Given the description of an element on the screen output the (x, y) to click on. 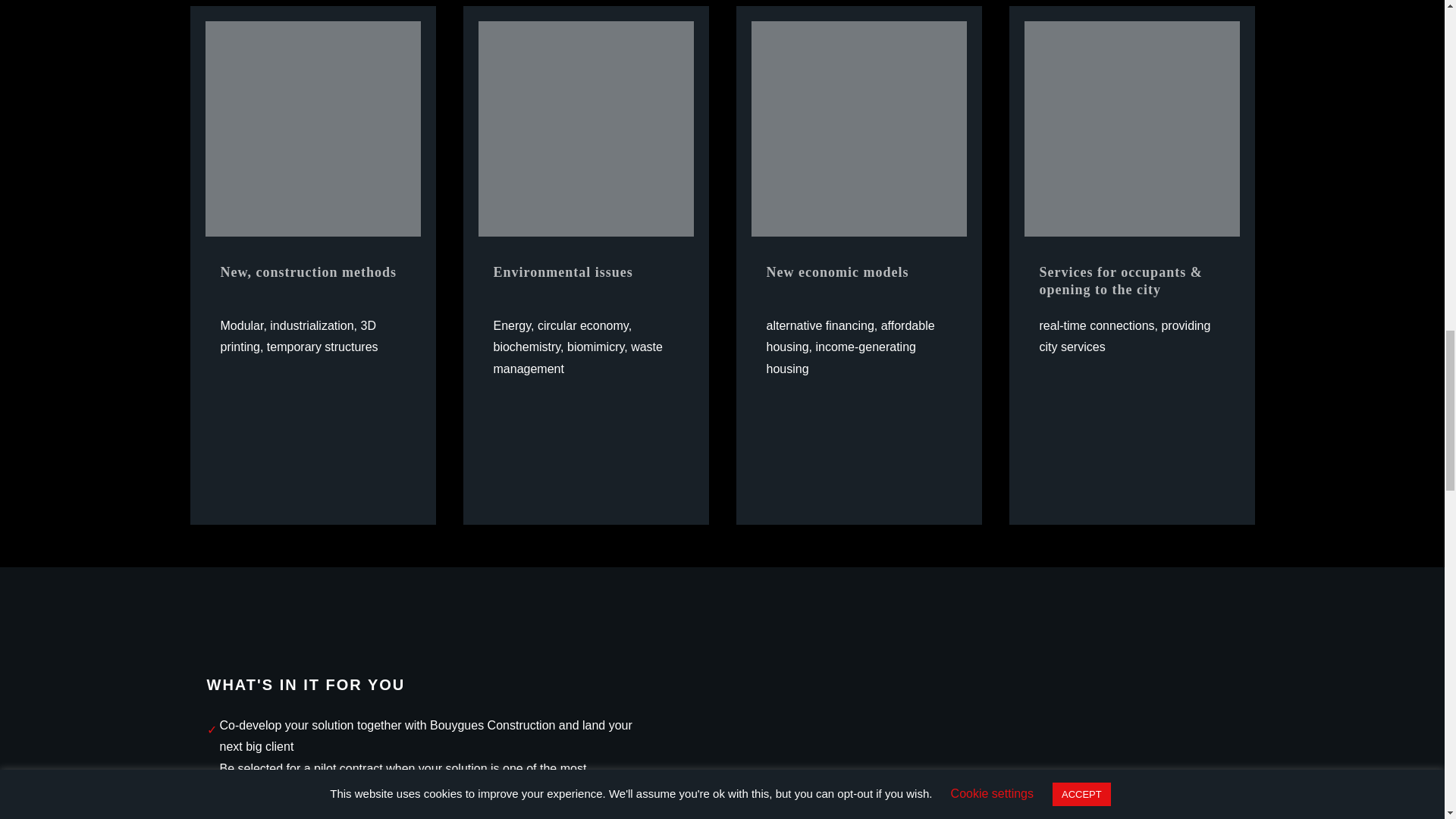
Environmental issues (585, 128)
New economic models  (858, 128)
New, construction methods  (312, 128)
